Given the description of an element on the screen output the (x, y) to click on. 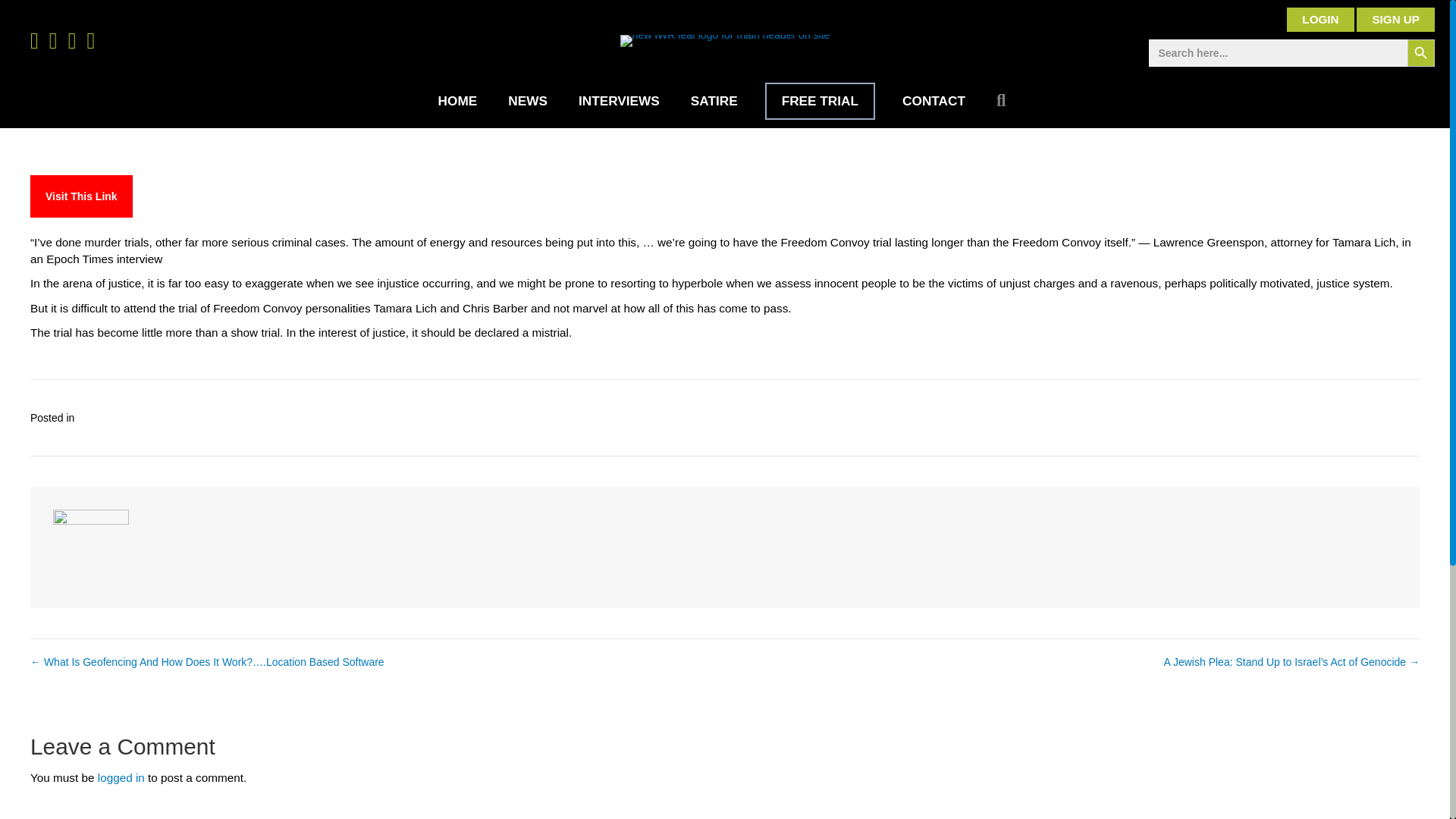
FREE TRIAL (820, 100)
SIGN UP (1395, 19)
CONTACT (932, 100)
SATIRE (713, 100)
NEWS (527, 100)
INTERVIEWS (619, 100)
LOGIN (1320, 19)
Search (1003, 100)
Search Button (1420, 52)
new IWR leaf logo for main header on site (724, 40)
HOME (458, 100)
